Given the description of an element on the screen output the (x, y) to click on. 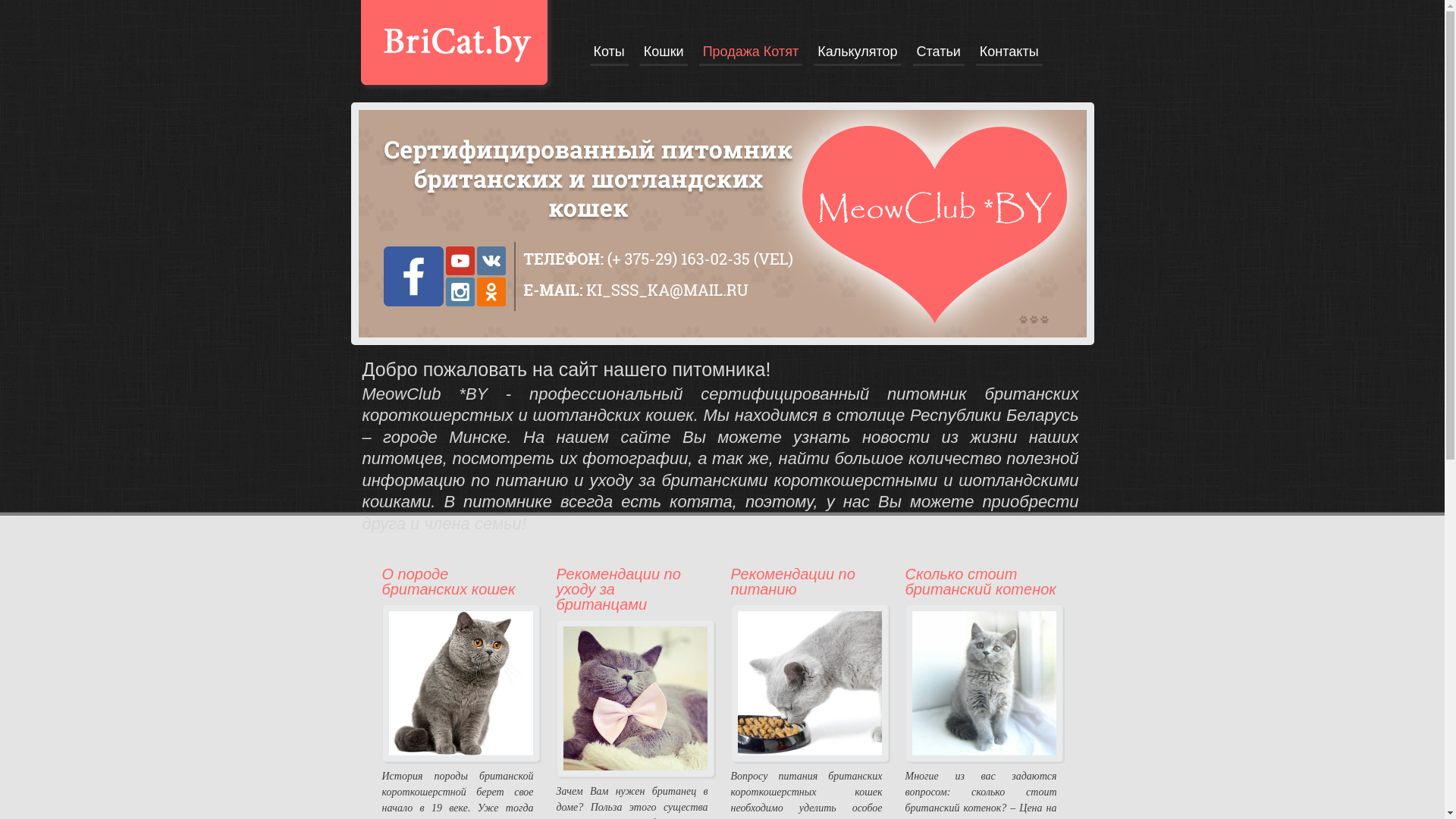
2 Element type: text (1033, 318)
1 Element type: text (1023, 318)
3 Element type: text (1044, 318)
